Given the description of an element on the screen output the (x, y) to click on. 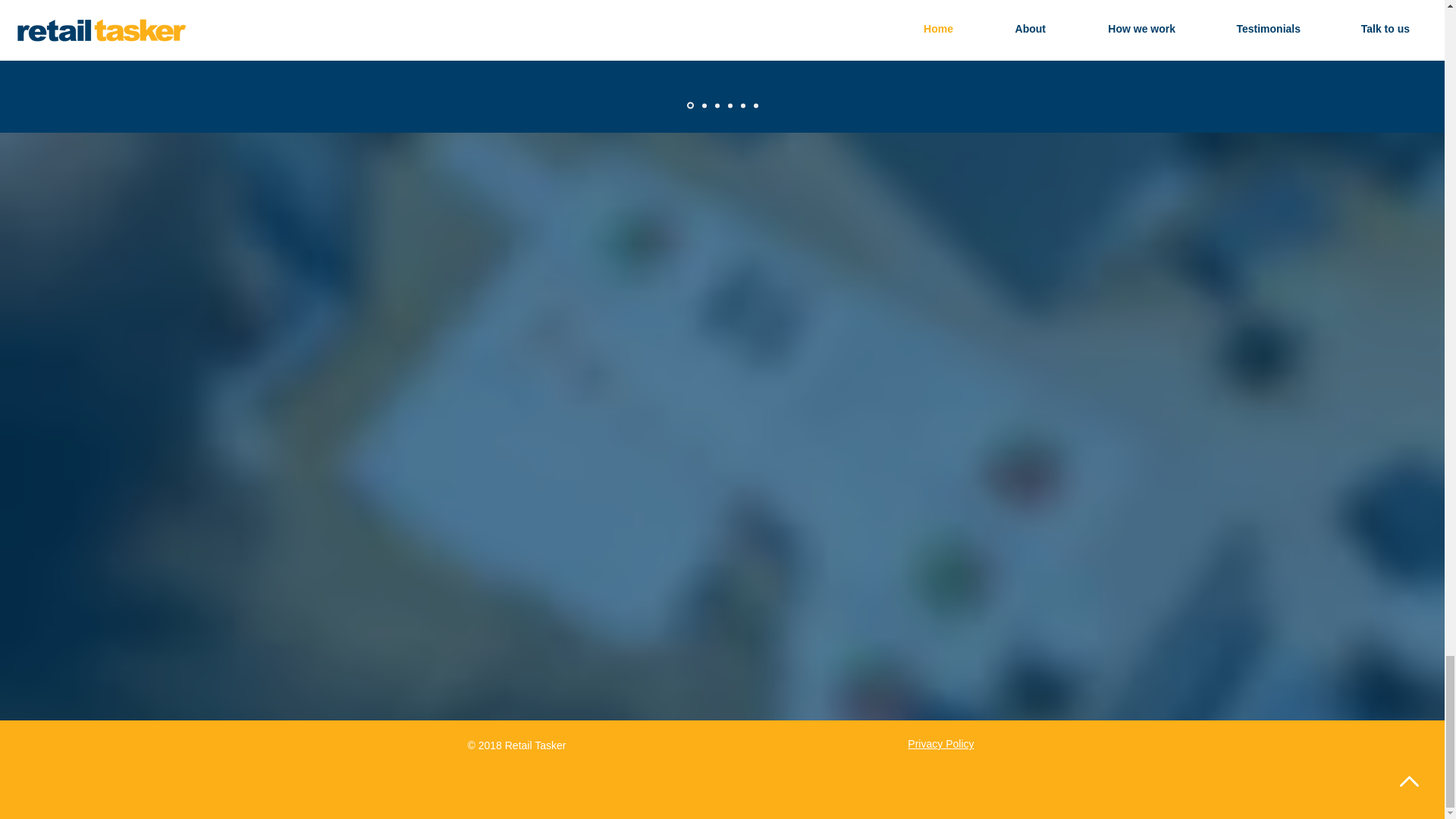
Privacy Policy (940, 743)
